Given the description of an element on the screen output the (x, y) to click on. 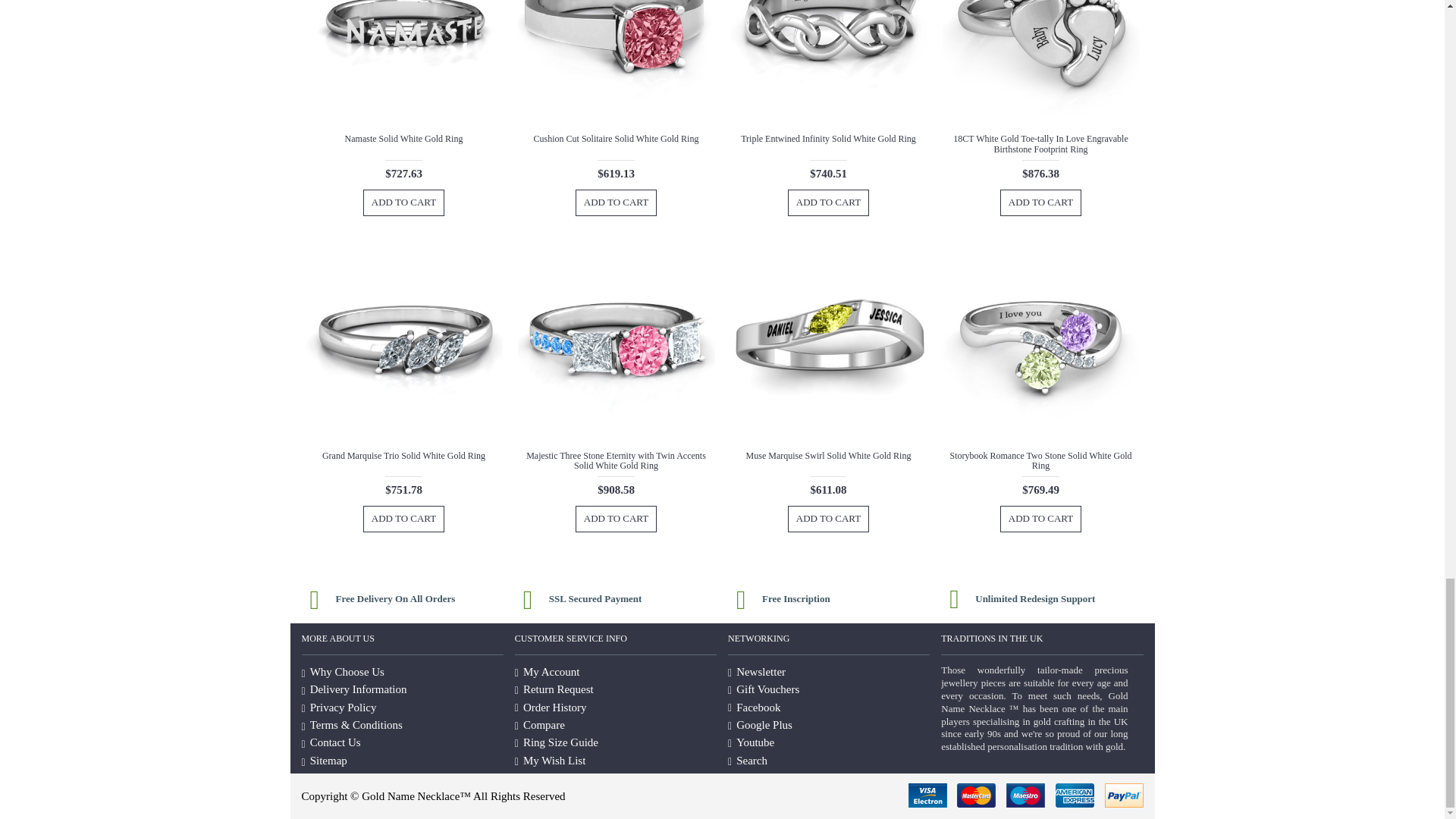
Namaste Solid White Gold Ring (403, 63)
Triple Entwined Infinity Solid White Gold Ring (827, 63)
Muse Marquise Swirl Solid White Gold Ring (827, 344)
Storybook Romance Two Stone Solid White Gold Ring (1040, 344)
Cushion Cut Solitaire Solid White Gold Ring (615, 63)
Grand Marquise Trio Solid White Gold Ring (403, 344)
